Given the description of an element on the screen output the (x, y) to click on. 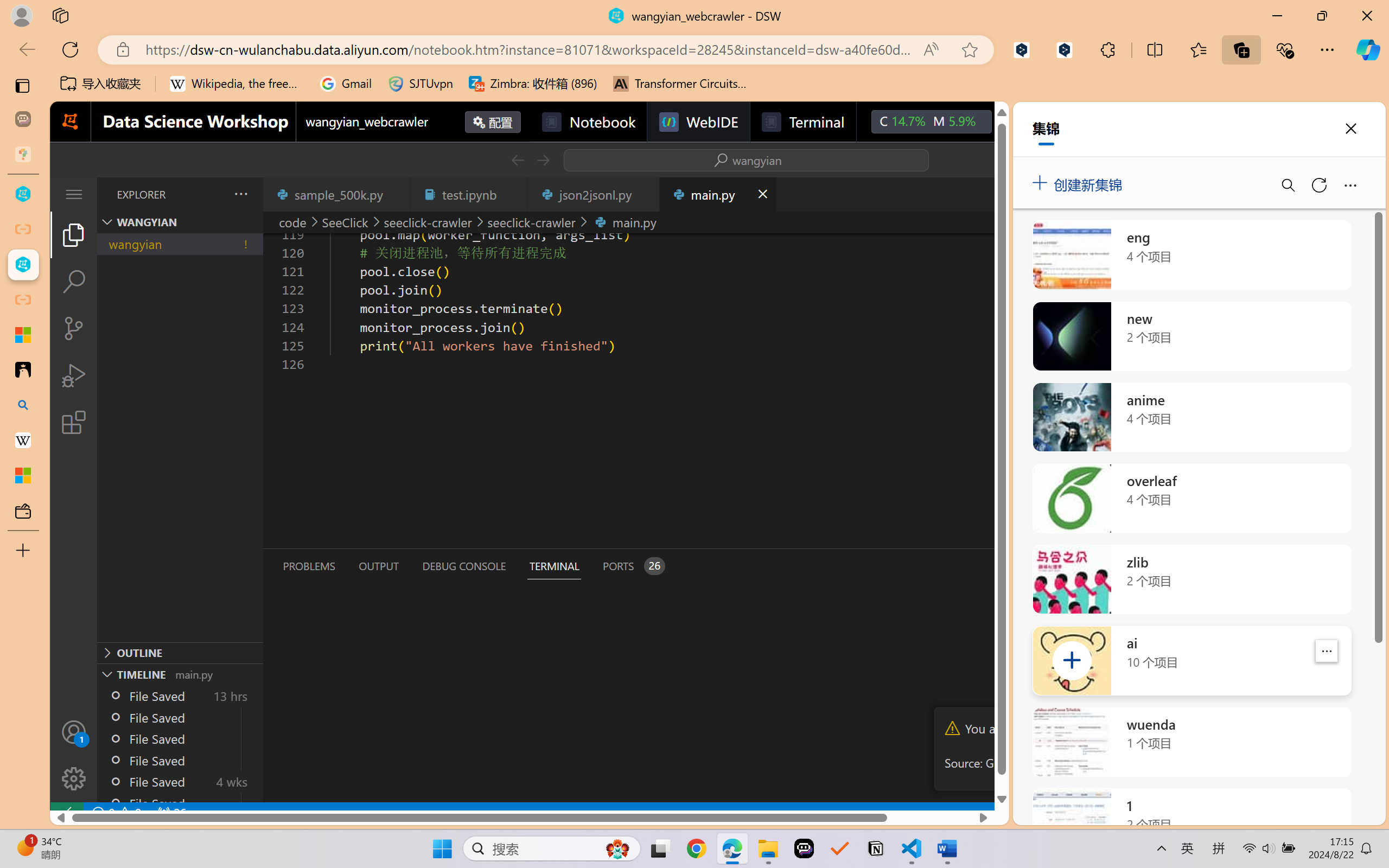
json2jsonl.py (593, 194)
Copilot (Ctrl+Shift+.) (1368, 49)
Gmail (345, 83)
Class: menubar compact overflow-menu-only (73, 194)
Explorer actions (212, 194)
